Given the description of an element on the screen output the (x, y) to click on. 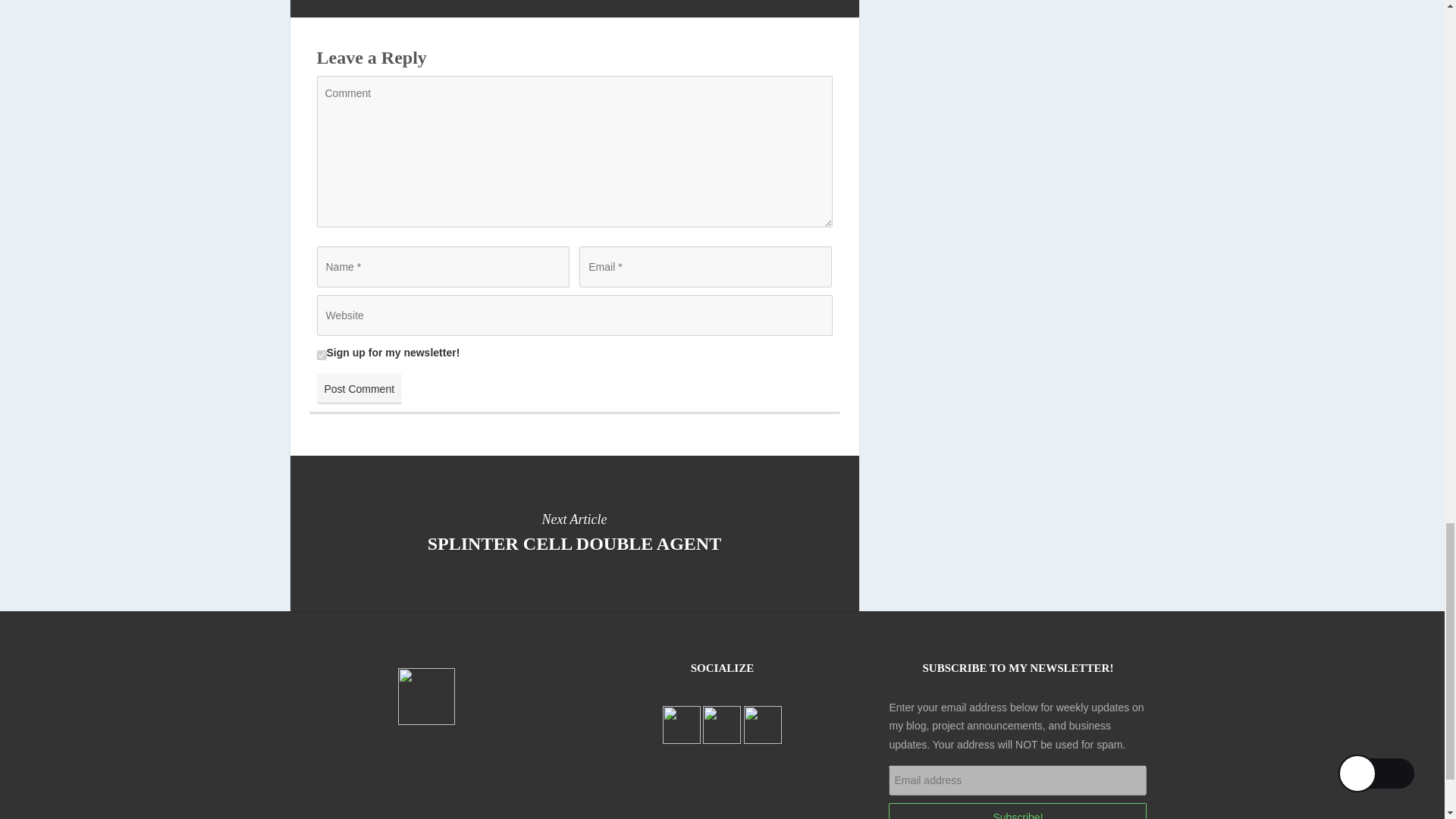
Subscribe! (574, 532)
Post Comment (1017, 811)
1 (360, 388)
Post Comment (321, 355)
